Given the description of an element on the screen output the (x, y) to click on. 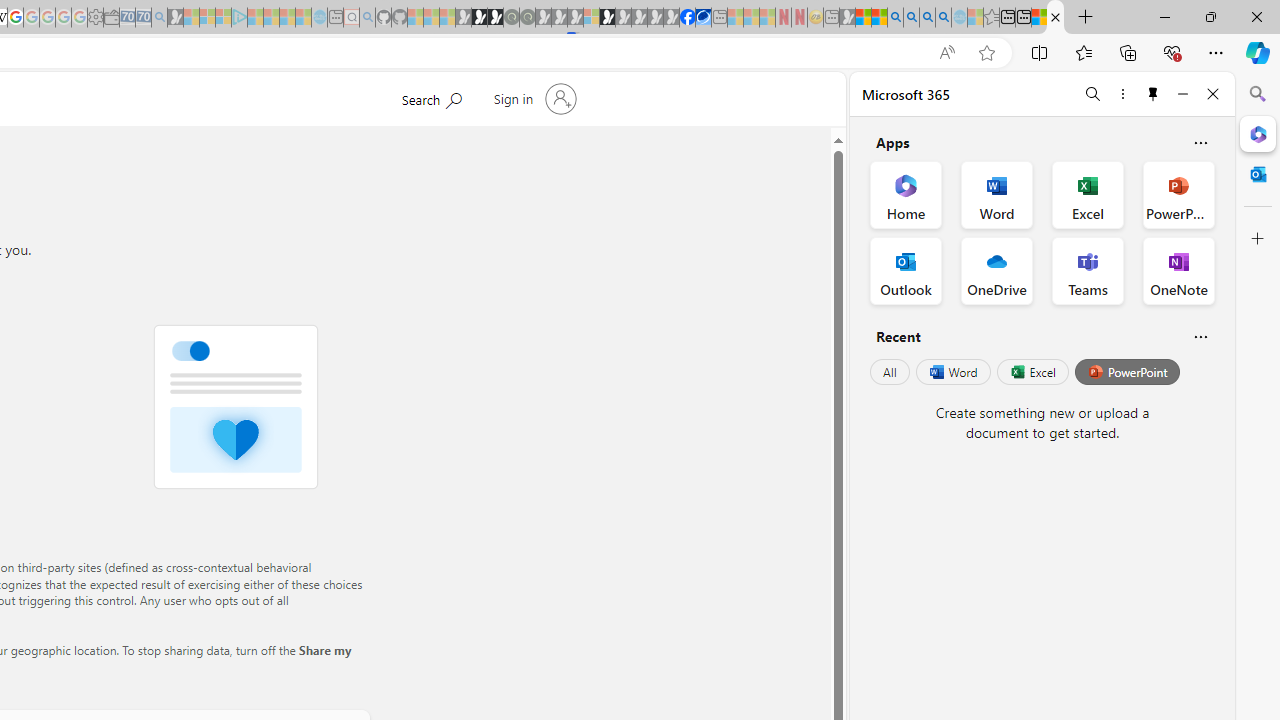
2009 Bing officially replaced Live Search on June 3 - Search (911, 17)
Play Zoo Boom in your browser | Games from Microsoft Start (479, 17)
Unpin side pane (1153, 93)
Sign in to your account - Sleeping (591, 17)
Word Office App (996, 194)
Microsoft Start Gaming - Sleeping (175, 17)
Future Focus Report 2024 - Sleeping (527, 17)
